Given the description of an element on the screen output the (x, y) to click on. 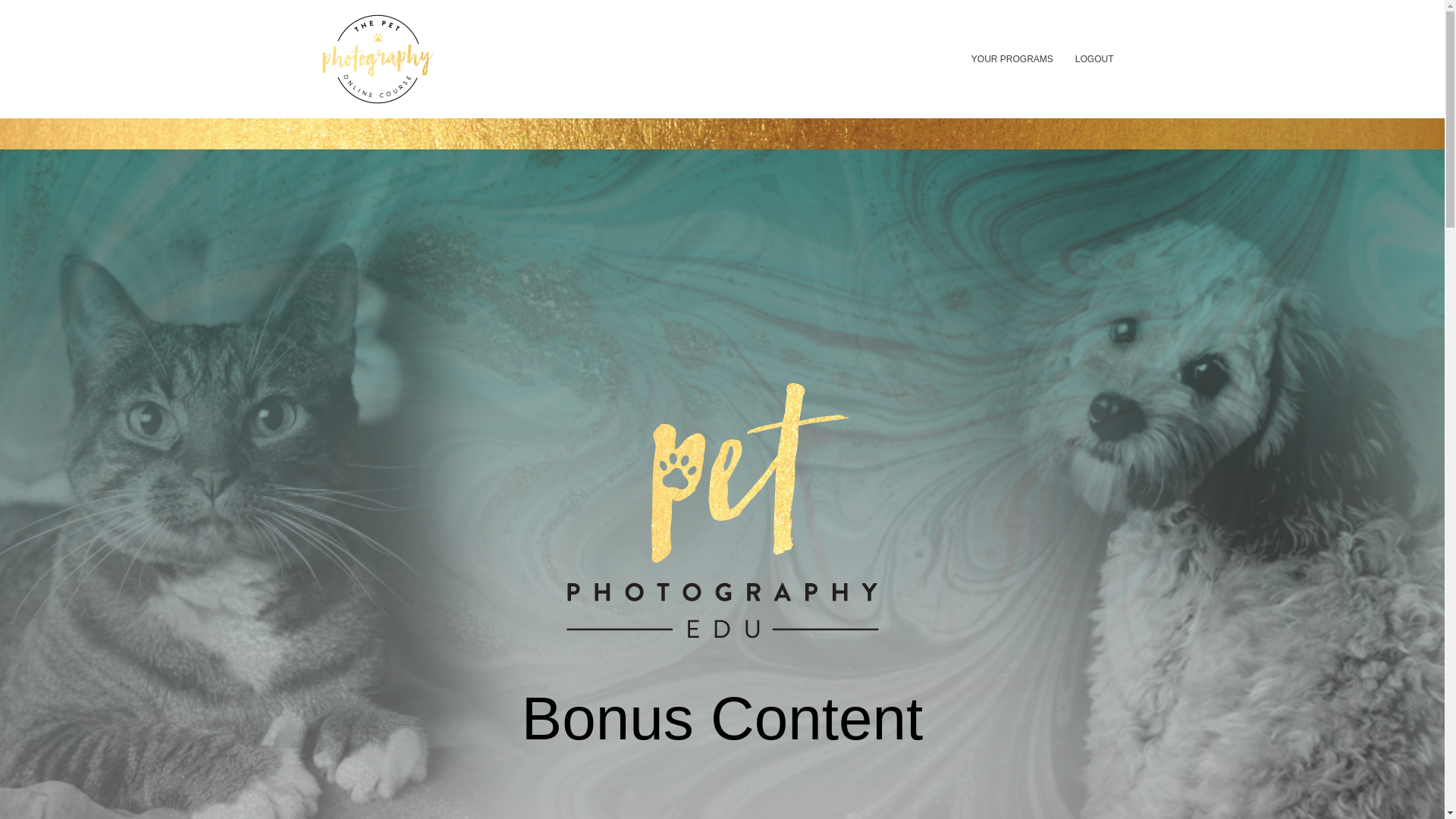
LOGOUT (1094, 59)
YOUR PROGRAMS (1012, 59)
Logo (376, 59)
Pet-Photography-Edu-NEW-LOGO-LIGHT (721, 510)
